Given the description of an element on the screen output the (x, y) to click on. 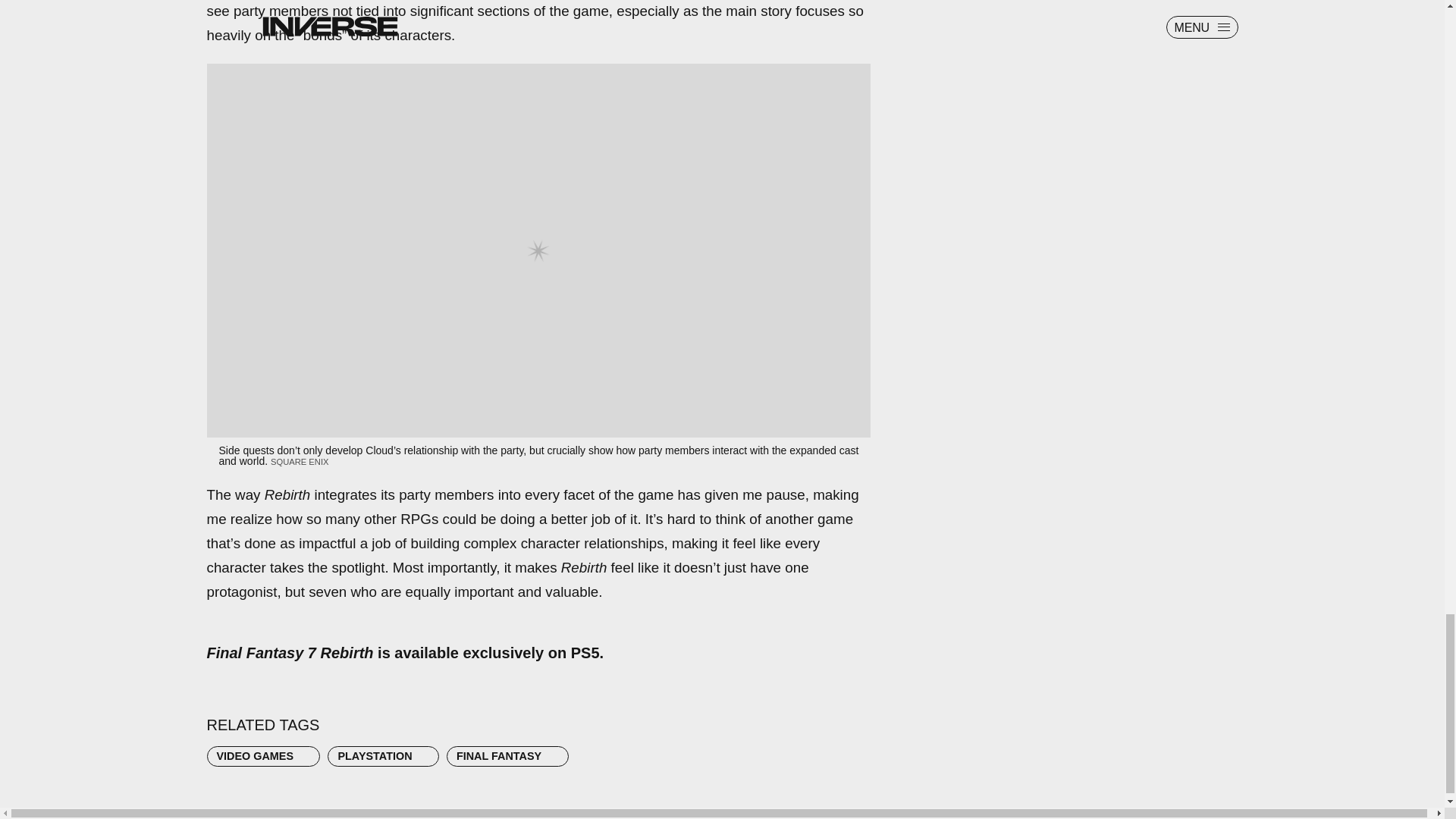
PLAYSTATION (382, 756)
FINAL FANTASY (507, 756)
VIDEO GAMES (263, 756)
